Given the description of an element on the screen output the (x, y) to click on. 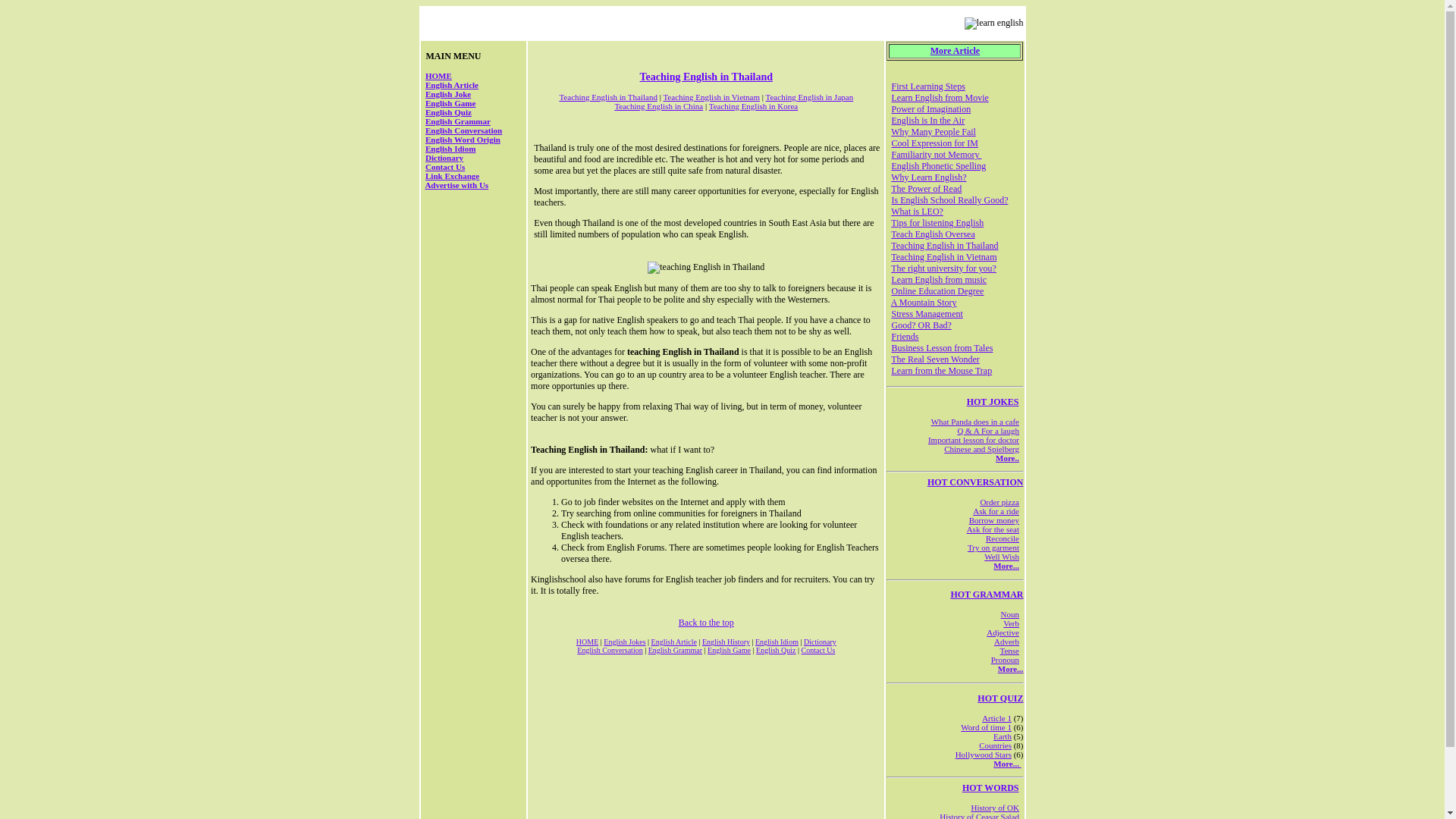
English Grammar (457, 121)
English Idiom (450, 148)
english conversation (995, 510)
Why Many People Fail (933, 131)
Teaching English in Thailand (706, 76)
English Game (729, 650)
Teaching English in Vietnam (711, 96)
HOME (438, 75)
English Idiom (776, 642)
Familiarity not Memory  (936, 154)
Teaching English in China (658, 105)
English is In the Air (927, 120)
English Grammar (674, 650)
More Article (954, 50)
English Article (452, 84)
